Given the description of an element on the screen output the (x, y) to click on. 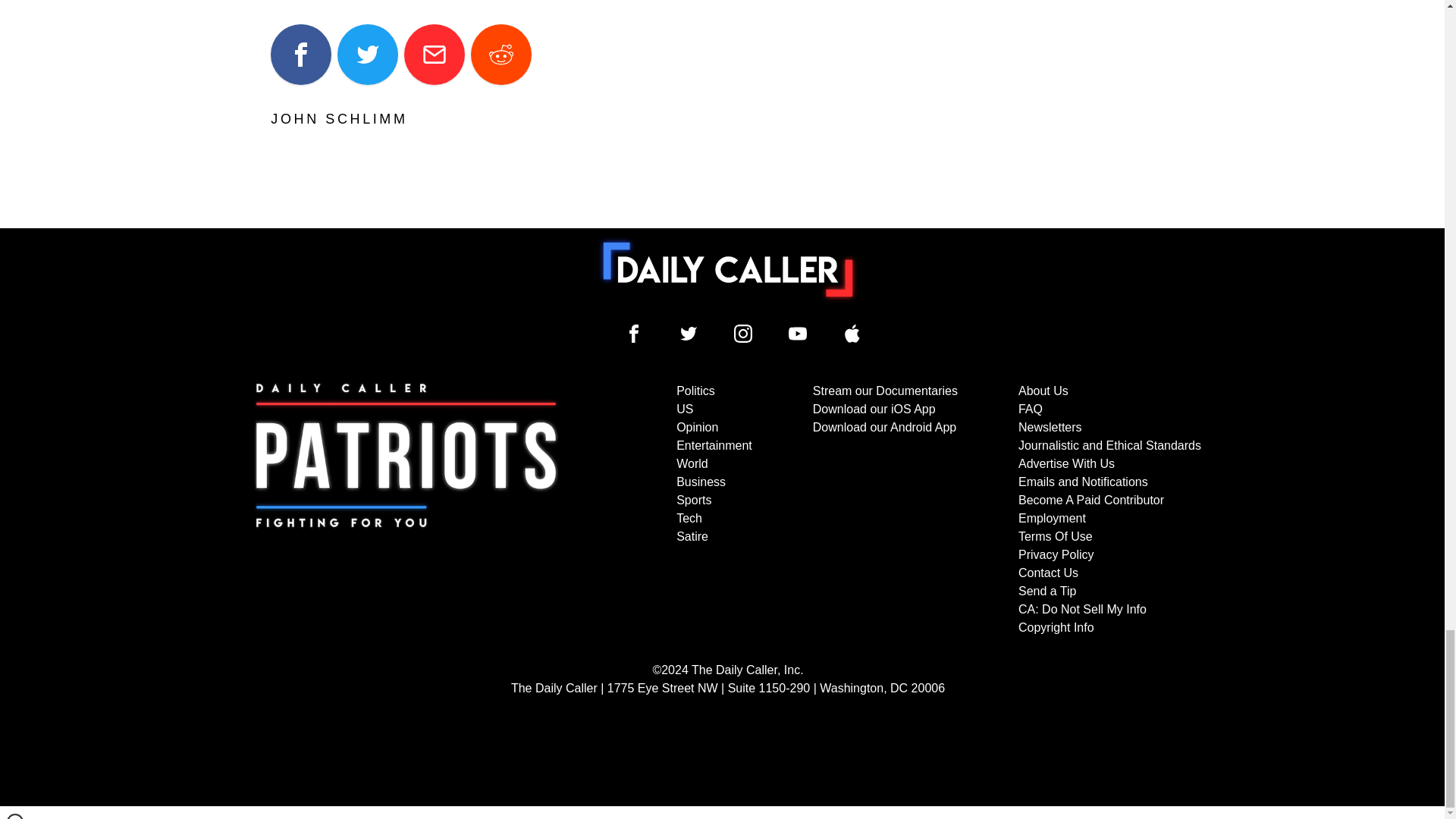
Daily Caller Facebook (633, 333)
Daily Caller Instagram (742, 333)
Daily Caller Twitter (688, 333)
To home page (727, 269)
Daily Caller YouTube (797, 333)
Subscribe to The Daily Caller (405, 509)
Daily Caller YouTube (852, 333)
